Given the description of an element on the screen output the (x, y) to click on. 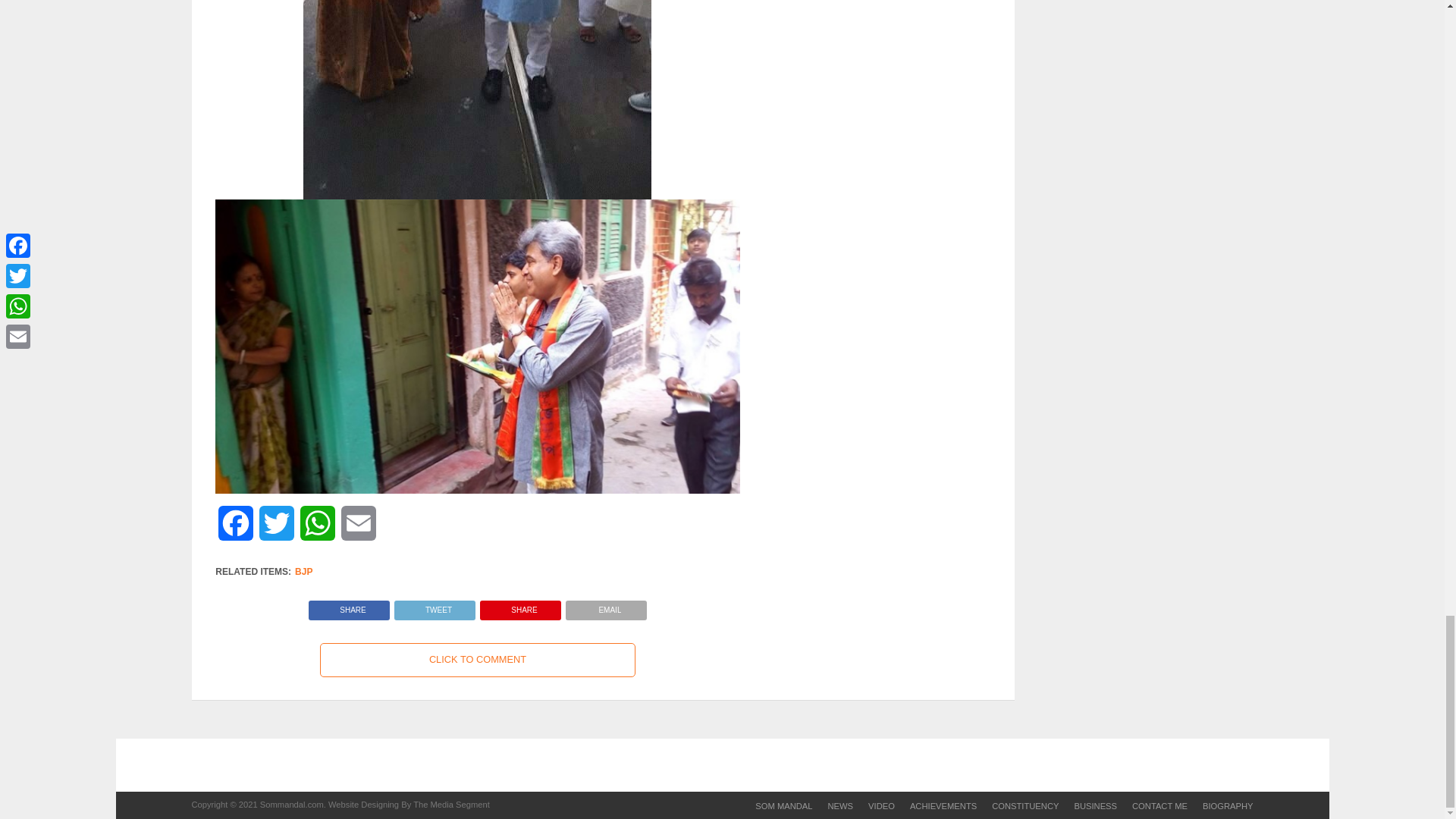
Pin This Post (520, 605)
Share on Facebook (349, 605)
Tweet This Post (434, 605)
